Given the description of an element on the screen output the (x, y) to click on. 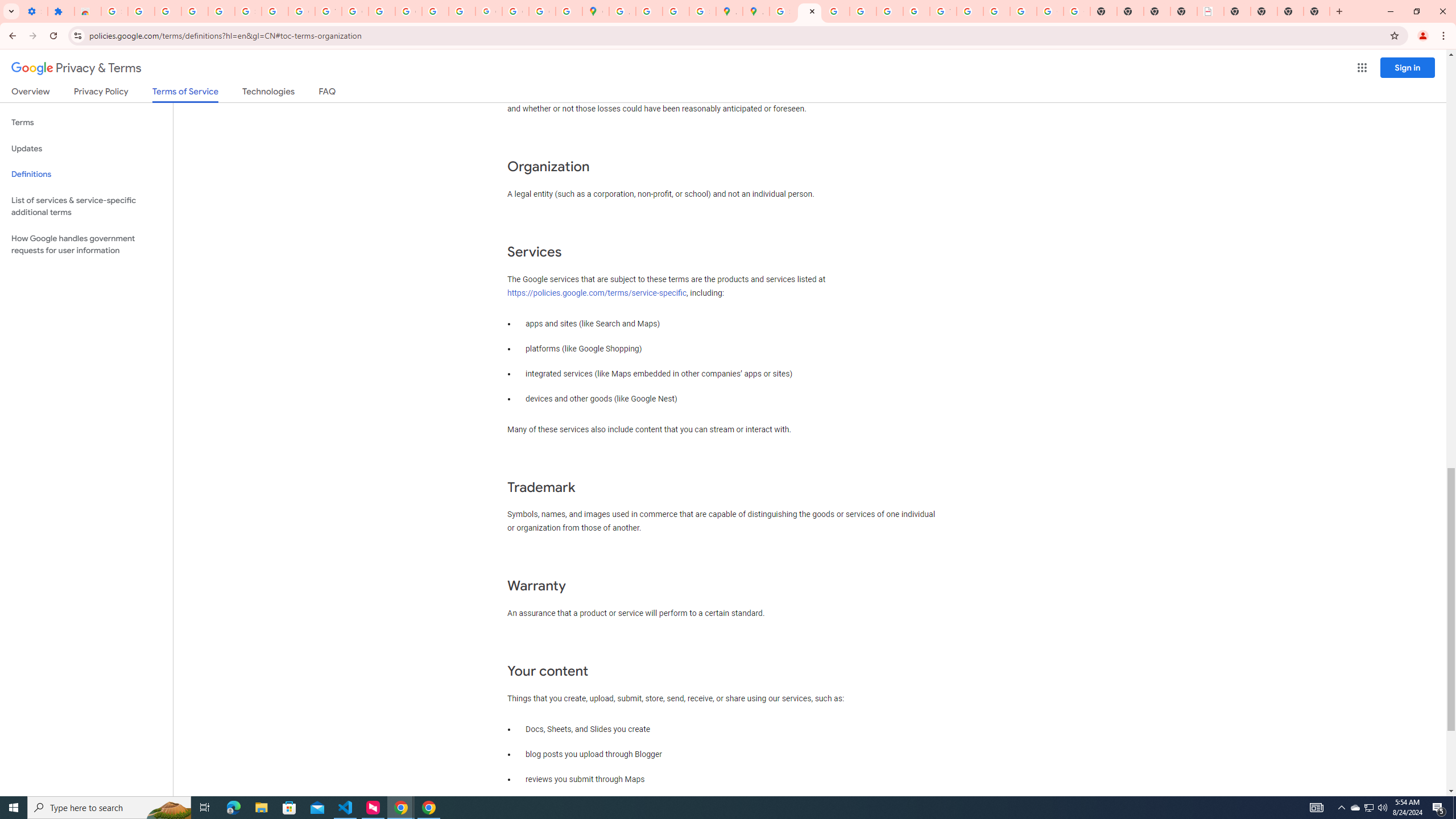
Address and search bar (735, 35)
Terms of Service (184, 94)
Settings - On startup (34, 11)
Terms (86, 122)
Sign in - Google Accounts (782, 11)
Reviews: Helix Fruit Jump Arcade Game (87, 11)
Privacy & Terms (76, 68)
Delete photos & videos - Computer - Google Photos Help (167, 11)
